Given the description of an element on the screen output the (x, y) to click on. 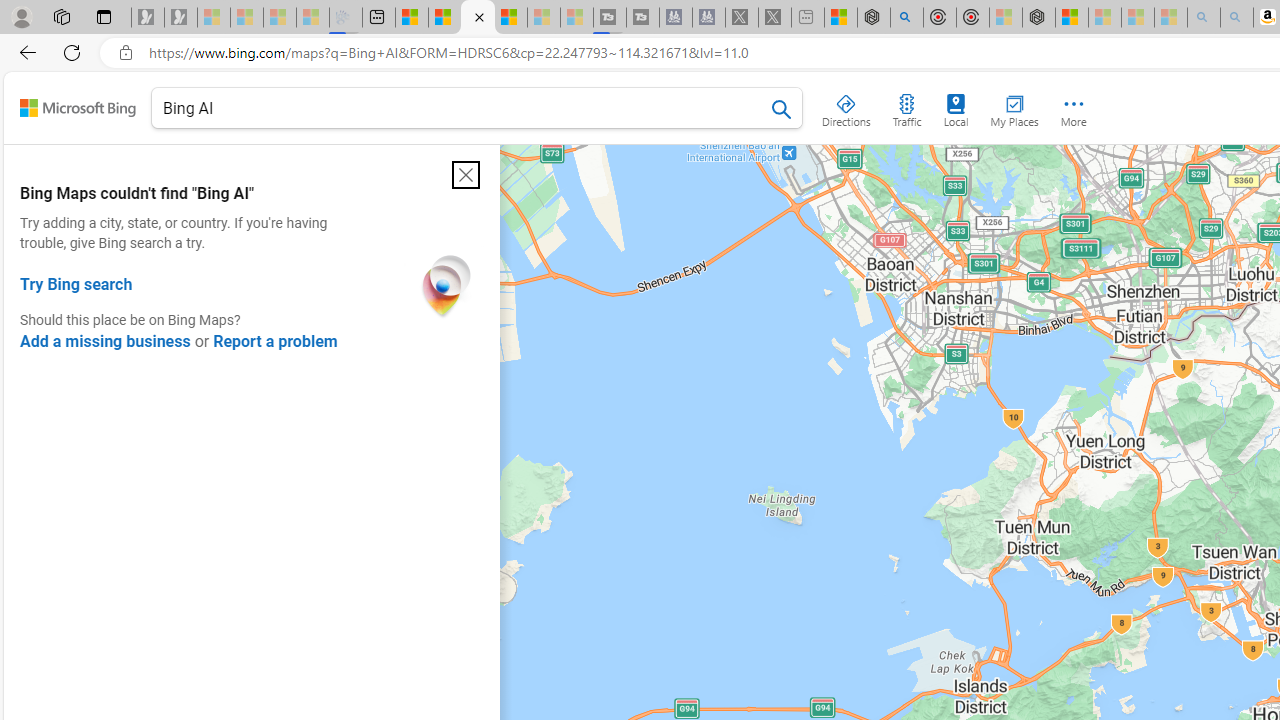
Nordace - Nordace Siena Is Not An Ordinary Backpack (1038, 17)
Directions (846, 106)
